Given the description of an element on the screen output the (x, y) to click on. 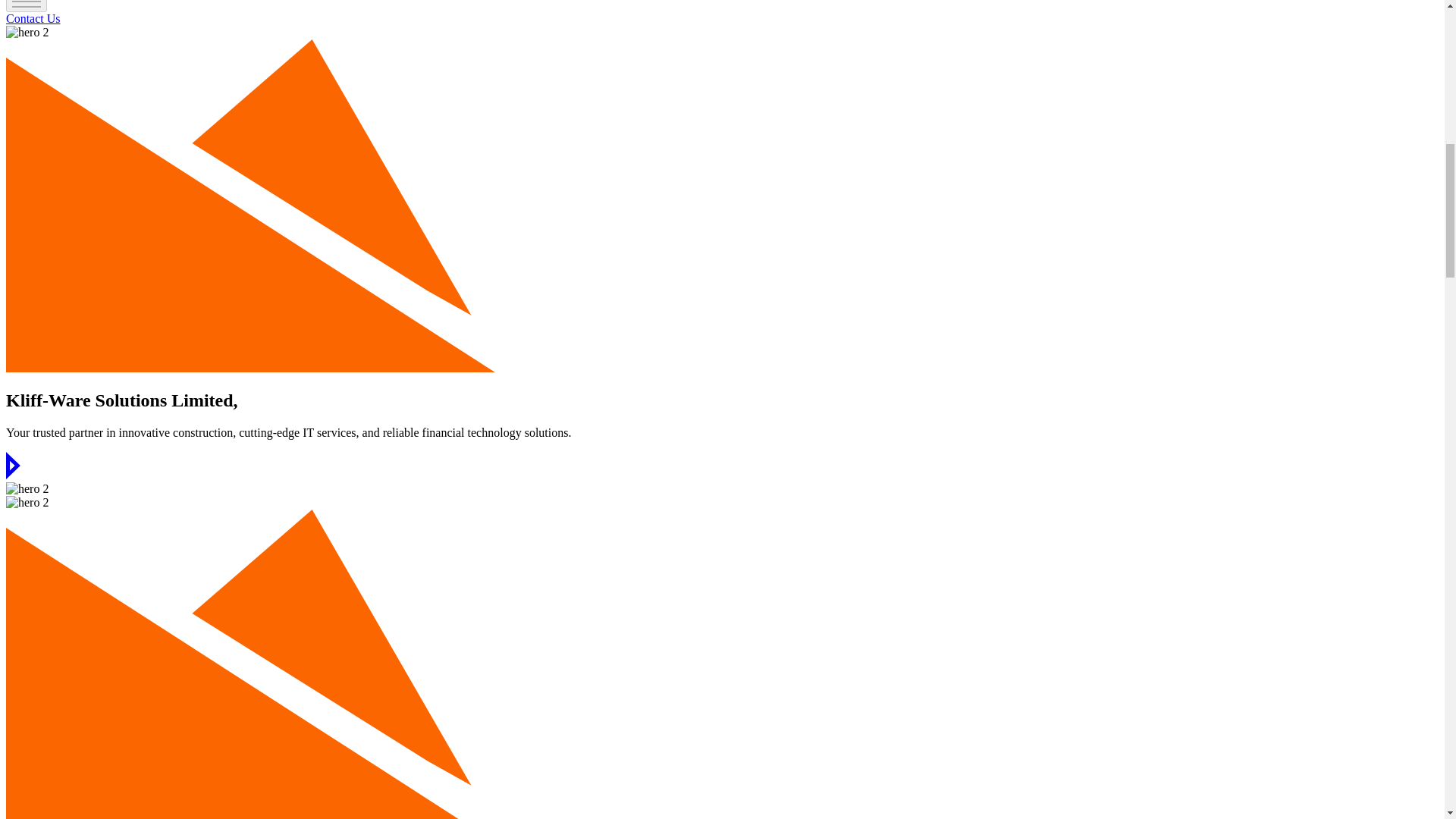
Contact Us (33, 18)
